Given the description of an element on the screen output the (x, y) to click on. 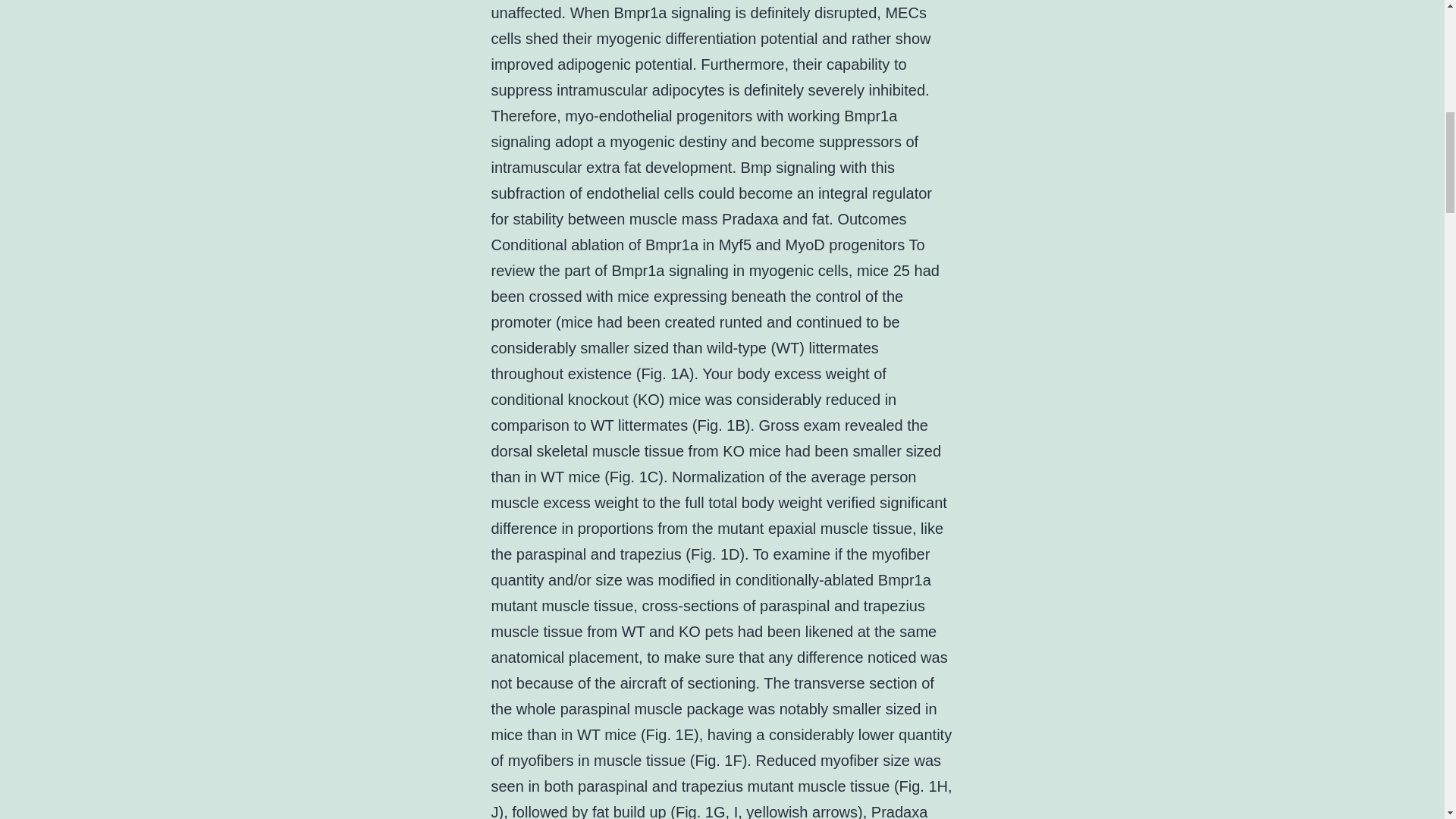
Pradaxa (899, 811)
